Given the description of an element on the screen output the (x, y) to click on. 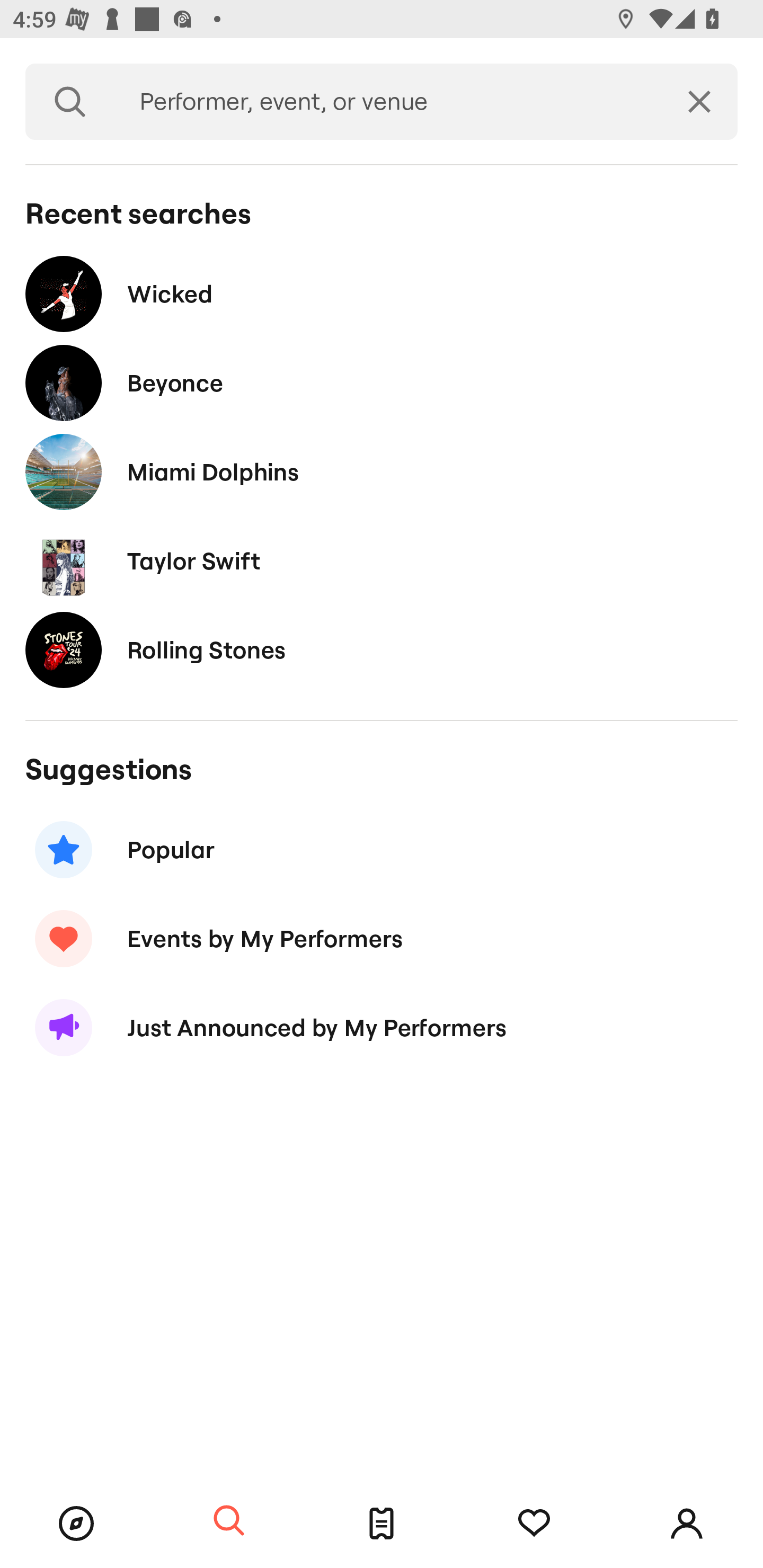
Search (69, 101)
Performer, event, or venue (387, 101)
Clear (699, 101)
Wicked (381, 293)
Beyonce (381, 383)
Miami Dolphins (381, 471)
Taylor Swift (381, 560)
Rolling Stones (381, 649)
Popular (381, 849)
Events by My Performers (381, 938)
Just Announced by My Performers (381, 1027)
Browse (76, 1523)
Search (228, 1521)
Tickets (381, 1523)
Tracking (533, 1523)
Account (686, 1523)
